Given the description of an element on the screen output the (x, y) to click on. 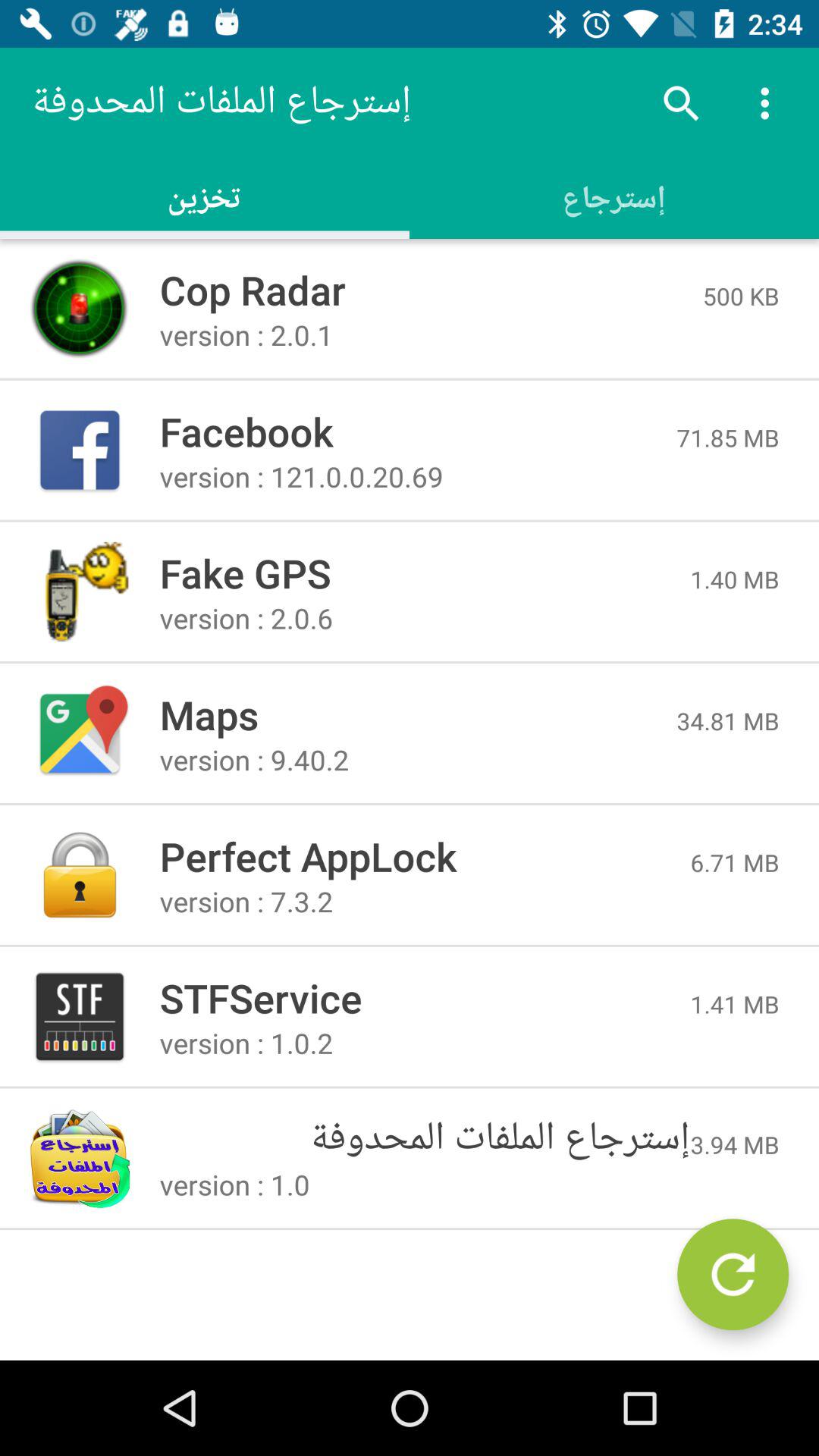
open the icon above 500 kb item (768, 103)
